Given the description of an element on the screen output the (x, y) to click on. 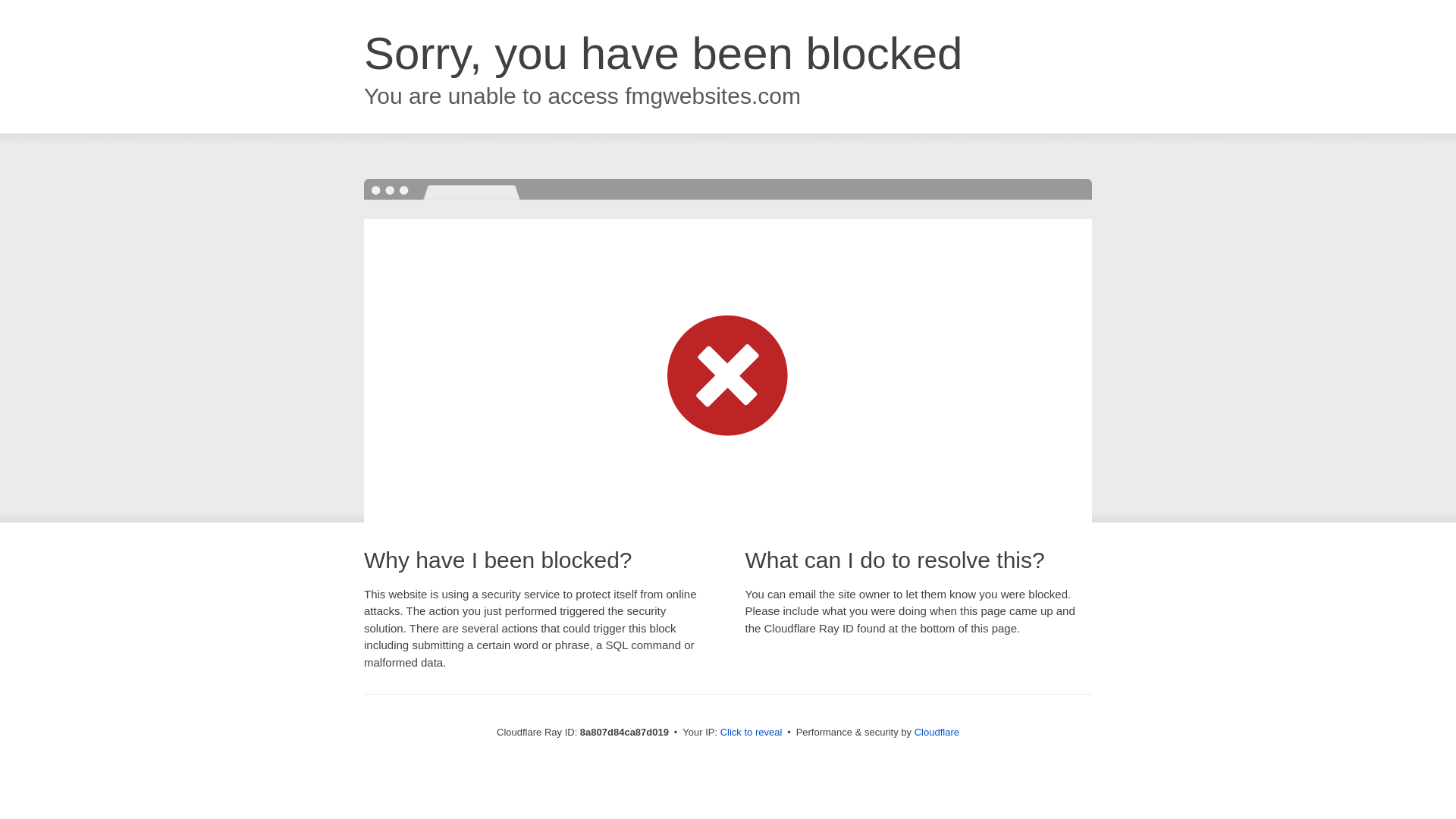
Click to reveal (751, 732)
Cloudflare (936, 731)
